Given the description of an element on the screen output the (x, y) to click on. 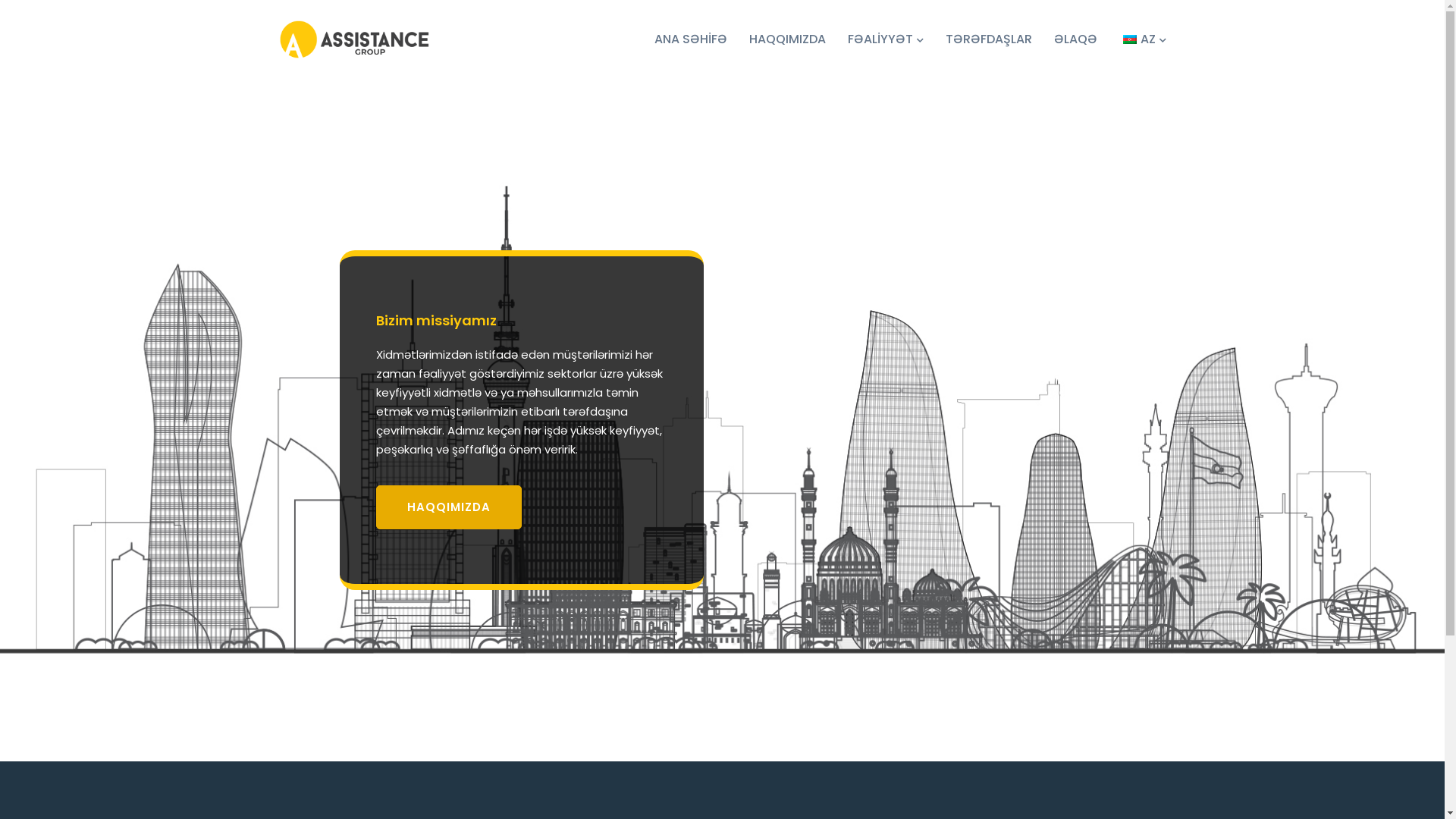
AZ Element type: text (1142, 39)
HAQQIMIZDA Element type: text (448, 507)
HAQQIMIZDA Element type: text (787, 39)
